Given the description of an element on the screen output the (x, y) to click on. 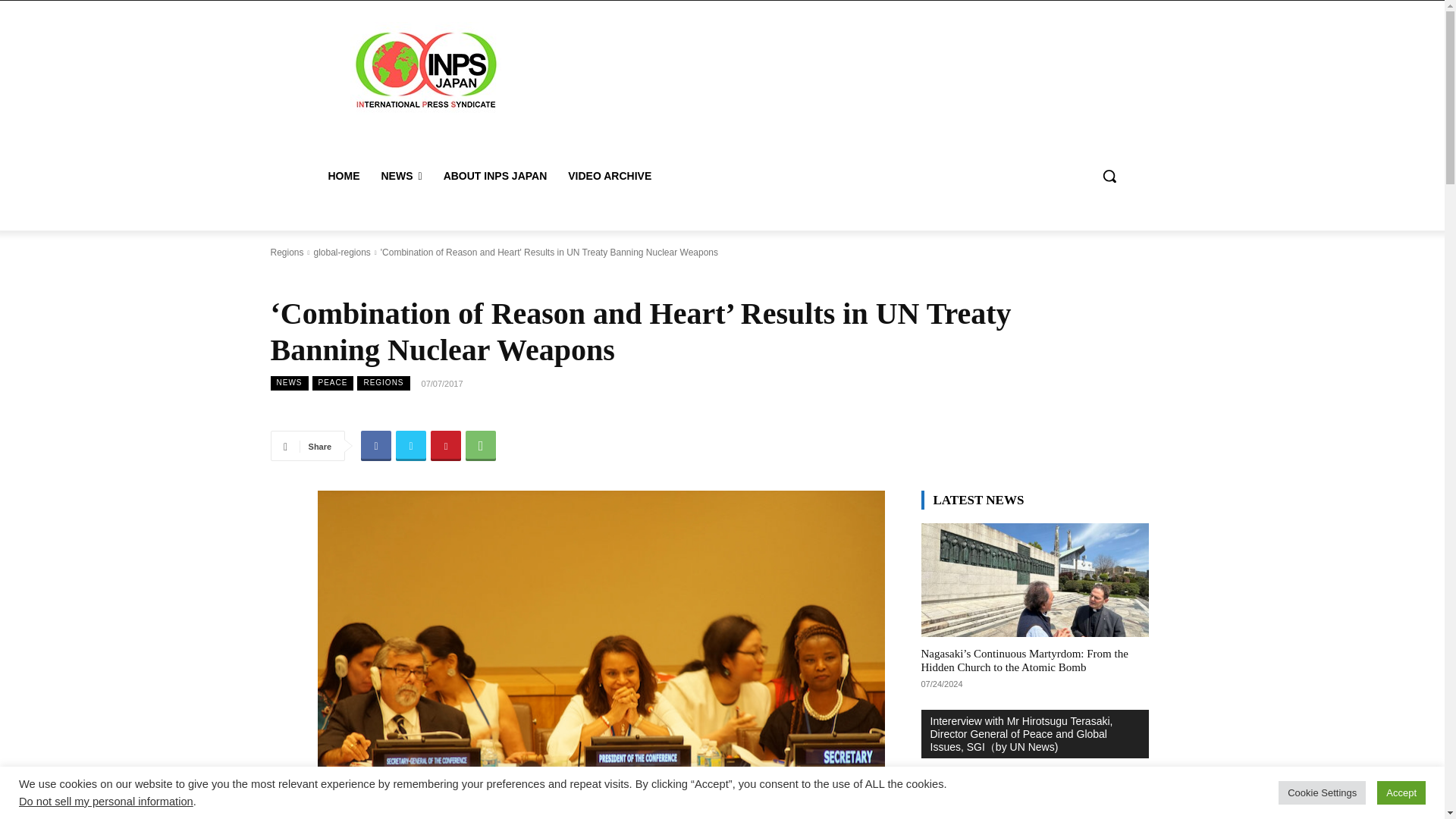
ABOUT INPS JAPAN (494, 176)
WhatsApp (480, 445)
Pinterest (445, 445)
VIDEO ARCHIVE (609, 176)
View all posts in Regions (285, 252)
Facebook (376, 445)
NEWS (400, 176)
Twitter (411, 445)
View all posts in global-regions (341, 252)
HOME (343, 176)
